Given the description of an element on the screen output the (x, y) to click on. 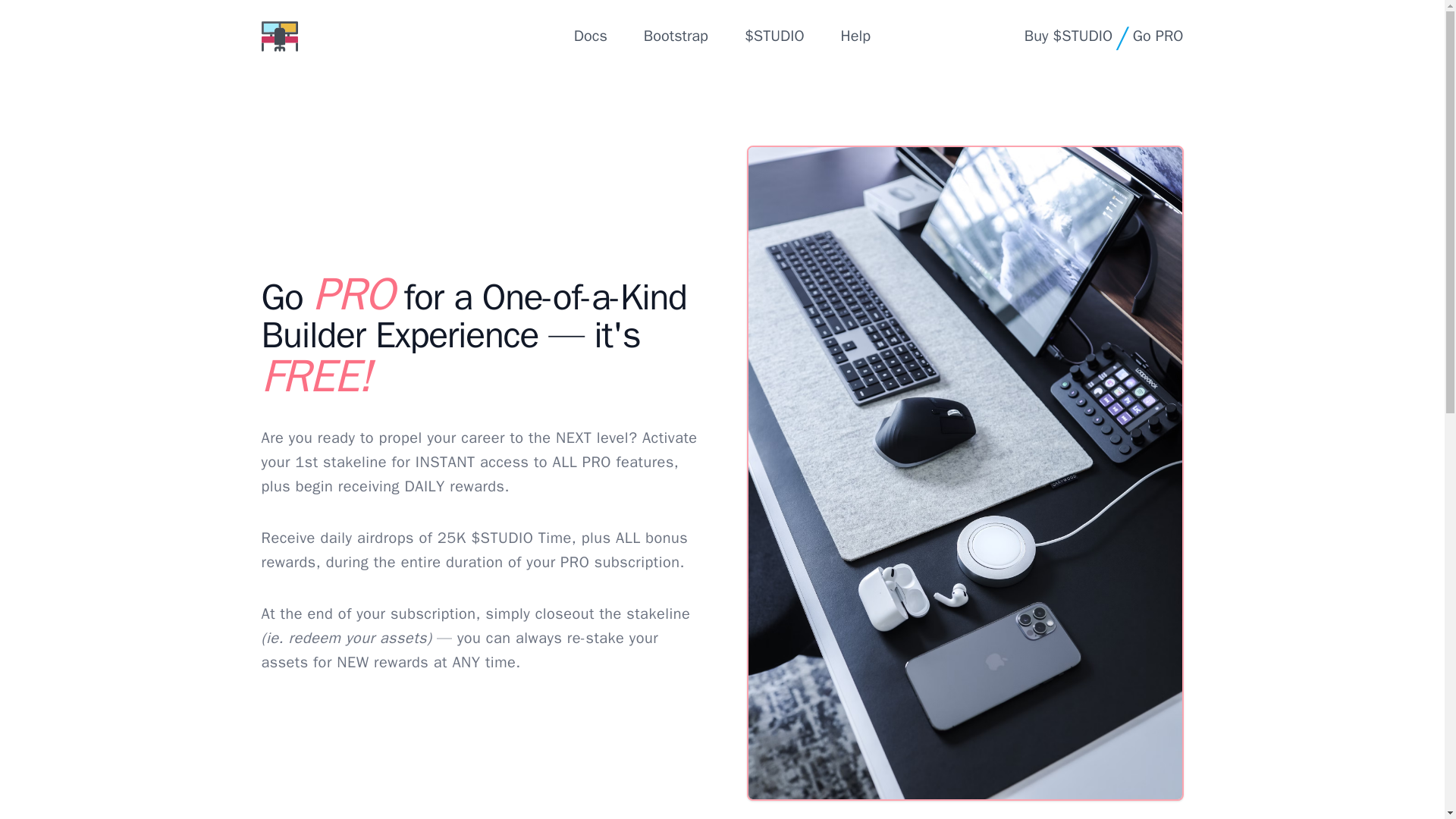
Nexa Studio (278, 35)
Go PRO (1157, 35)
Bootstrap (675, 36)
Help (855, 36)
Docs (590, 36)
